Given the description of an element on the screen output the (x, y) to click on. 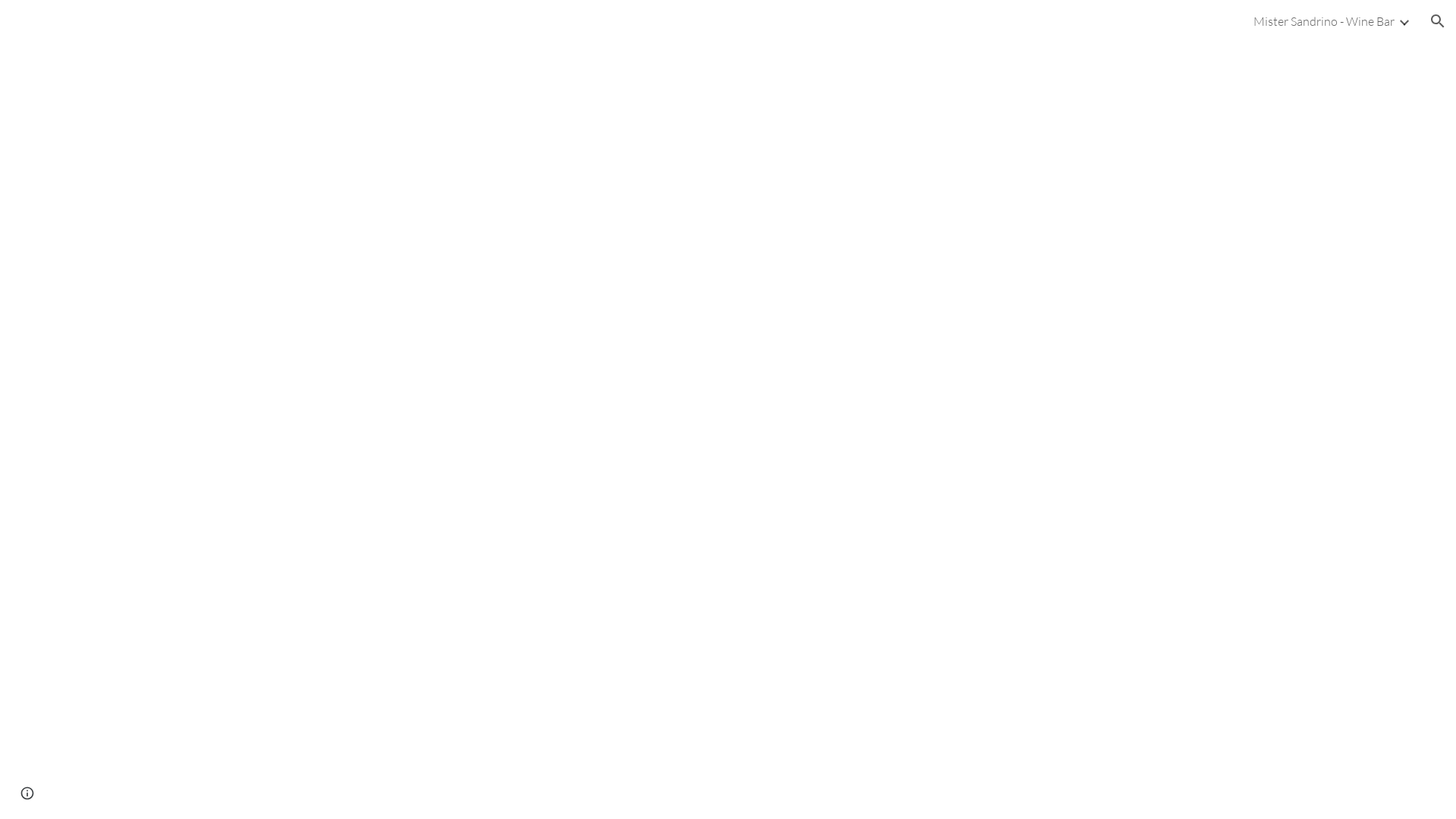
Expand/Collapse Element type: hover (1403, 20)
Mister Sandrino - Wine Bar Element type: text (1323, 20)
